Given the description of an element on the screen output the (x, y) to click on. 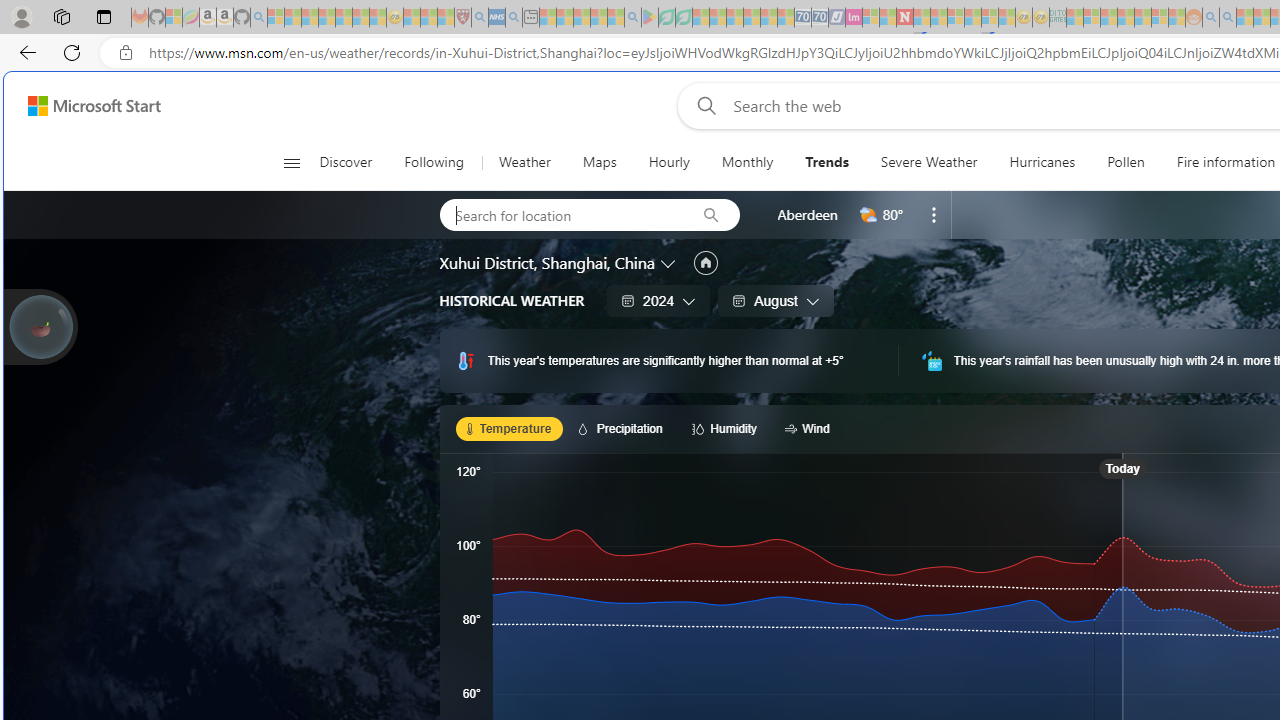
Hurricanes (1042, 162)
August (775, 300)
Pollen (1126, 162)
Maps (599, 162)
